Given the description of an element on the screen output the (x, y) to click on. 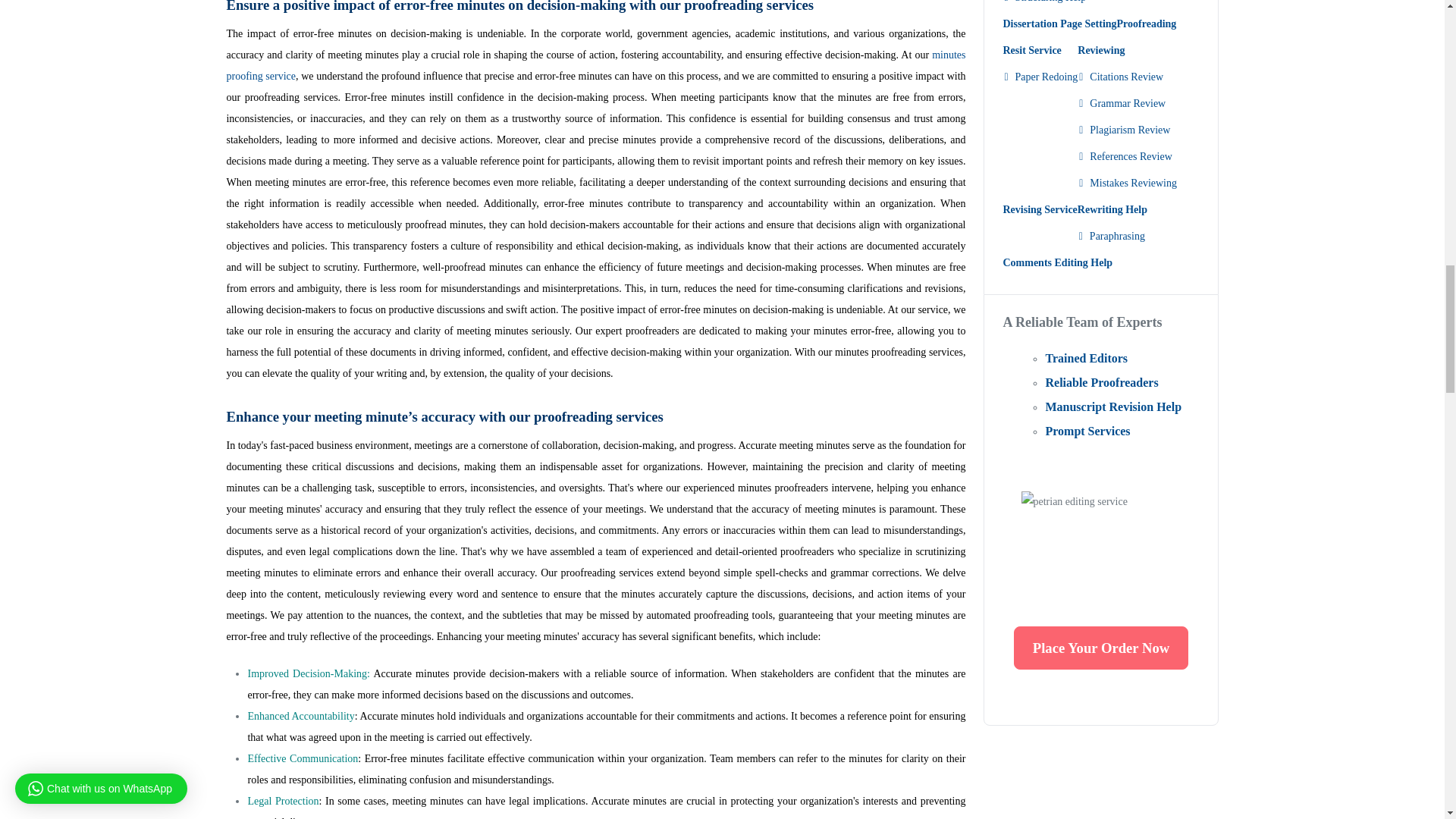
Citations Review (1126, 76)
Proofreading (1146, 23)
minutes proofing service (595, 65)
Dissertation Page Setting (1059, 23)
Grammar Review (1126, 103)
Paper Redoing (1040, 76)
Reviewing (1126, 49)
Structuring Help (1044, 5)
Resit Service (1040, 49)
Plagiarism Review (1126, 130)
